Given the description of an element on the screen output the (x, y) to click on. 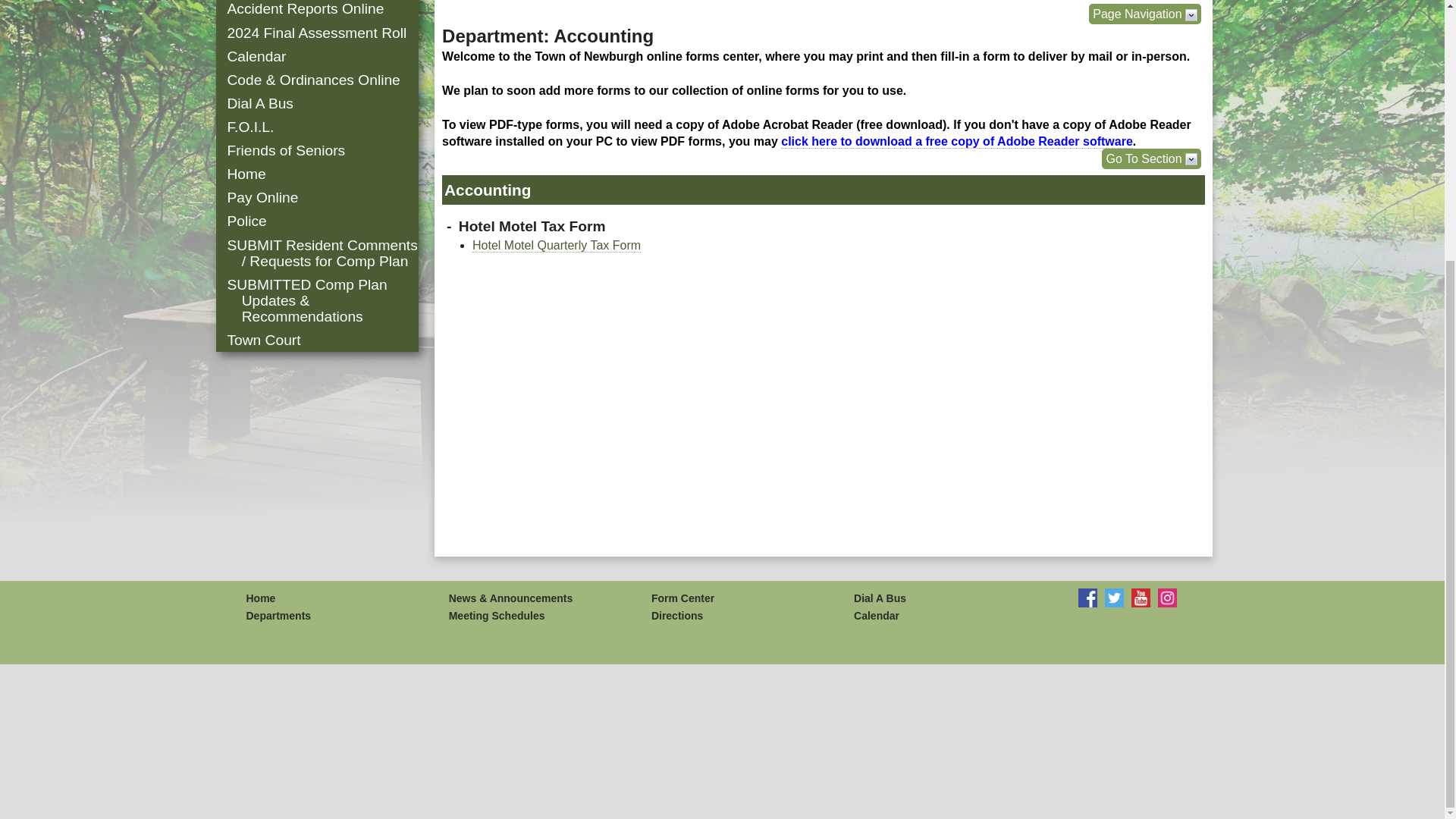
Follow us on Twitter (1114, 597)
Visit our Instagram page (1166, 597)
Visit our Facebook page (1087, 597)
Visit our YouTube channel (1140, 597)
